Given the description of an element on the screen output the (x, y) to click on. 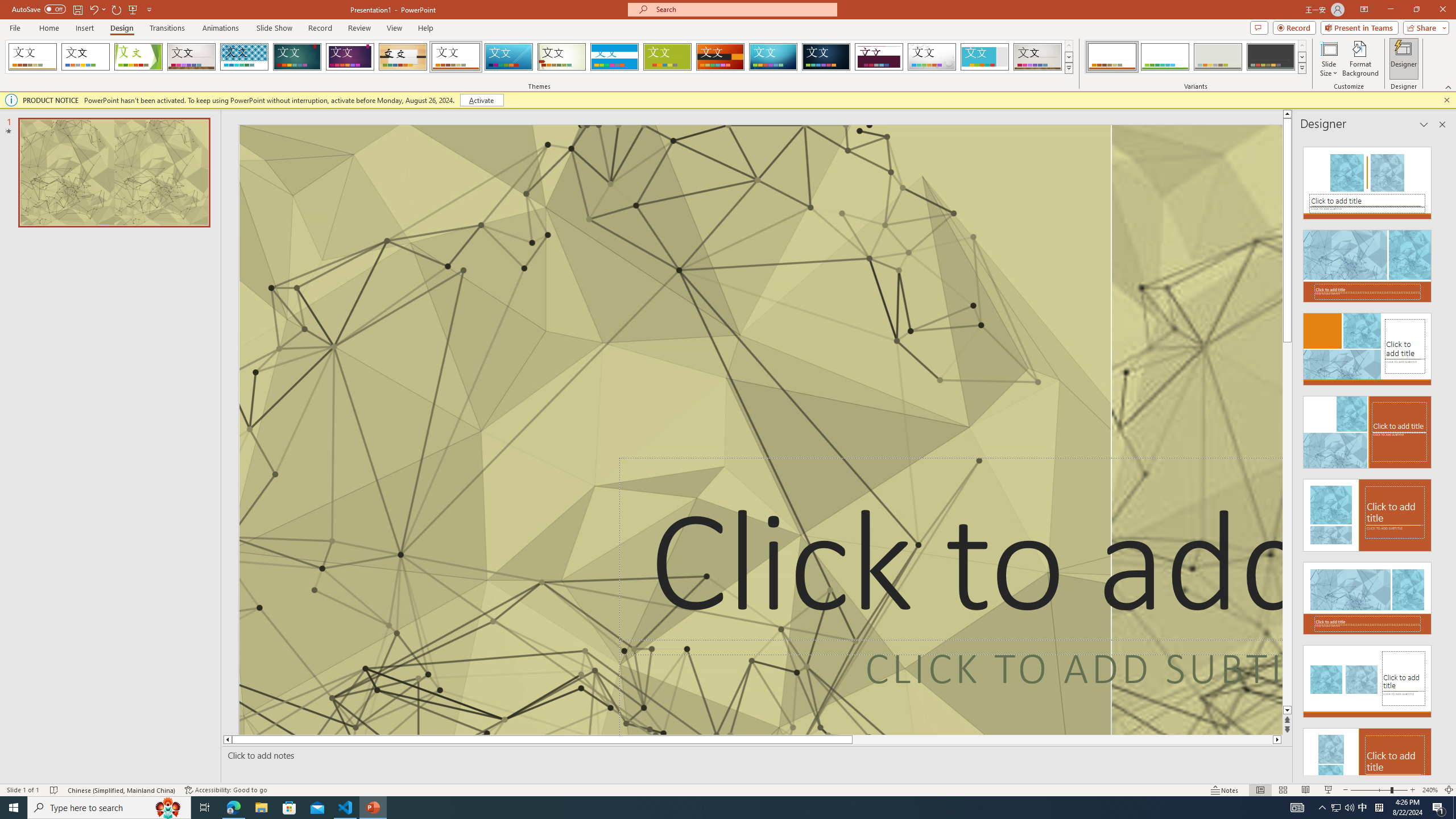
Format Background (1360, 58)
Activate (481, 100)
Organic (403, 56)
An abstract genetic concept (1197, 429)
Damask (826, 56)
